Given the description of an element on the screen output the (x, y) to click on. 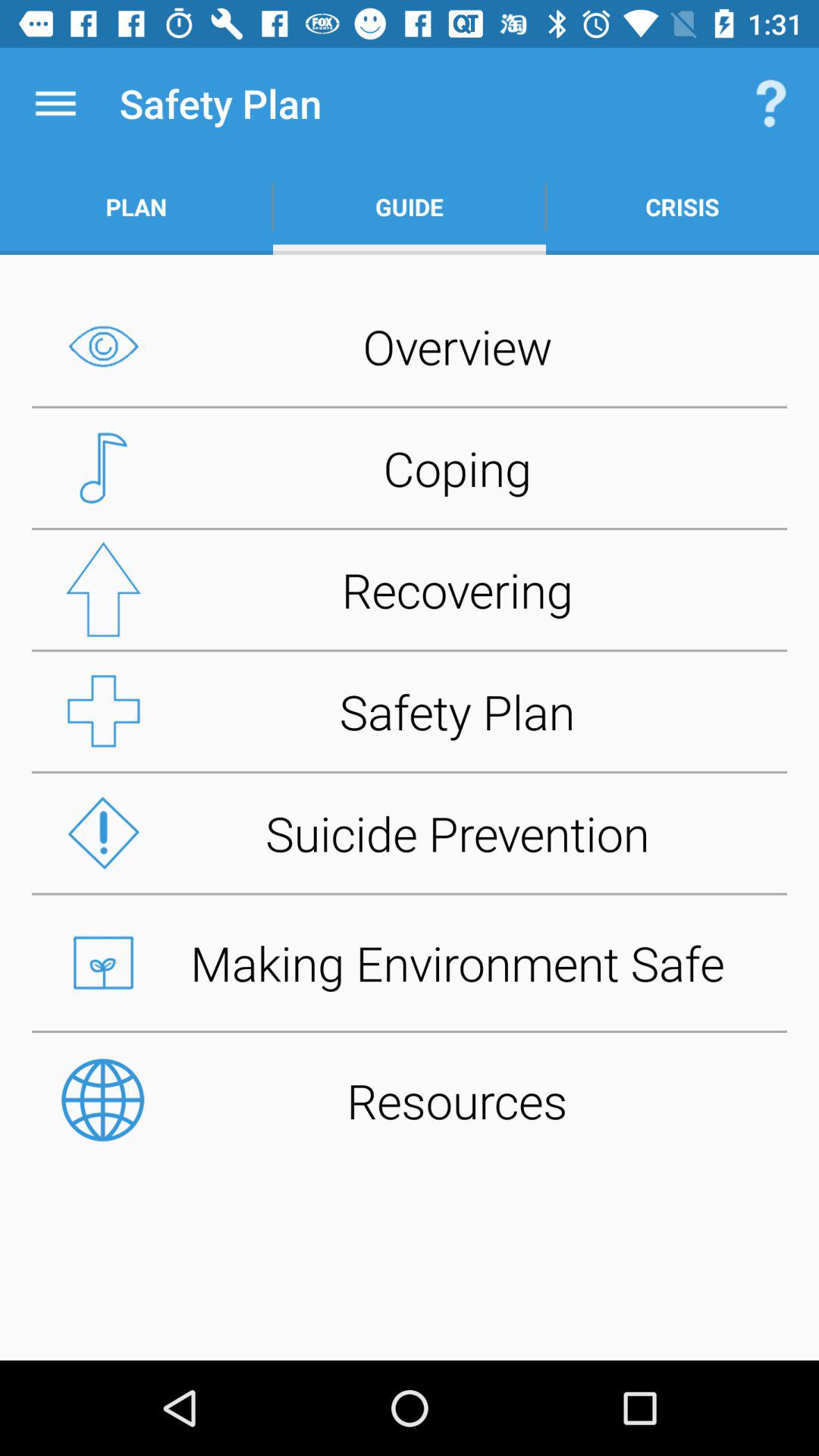
open item to the right of the plan (409, 206)
